Given the description of an element on the screen output the (x, y) to click on. 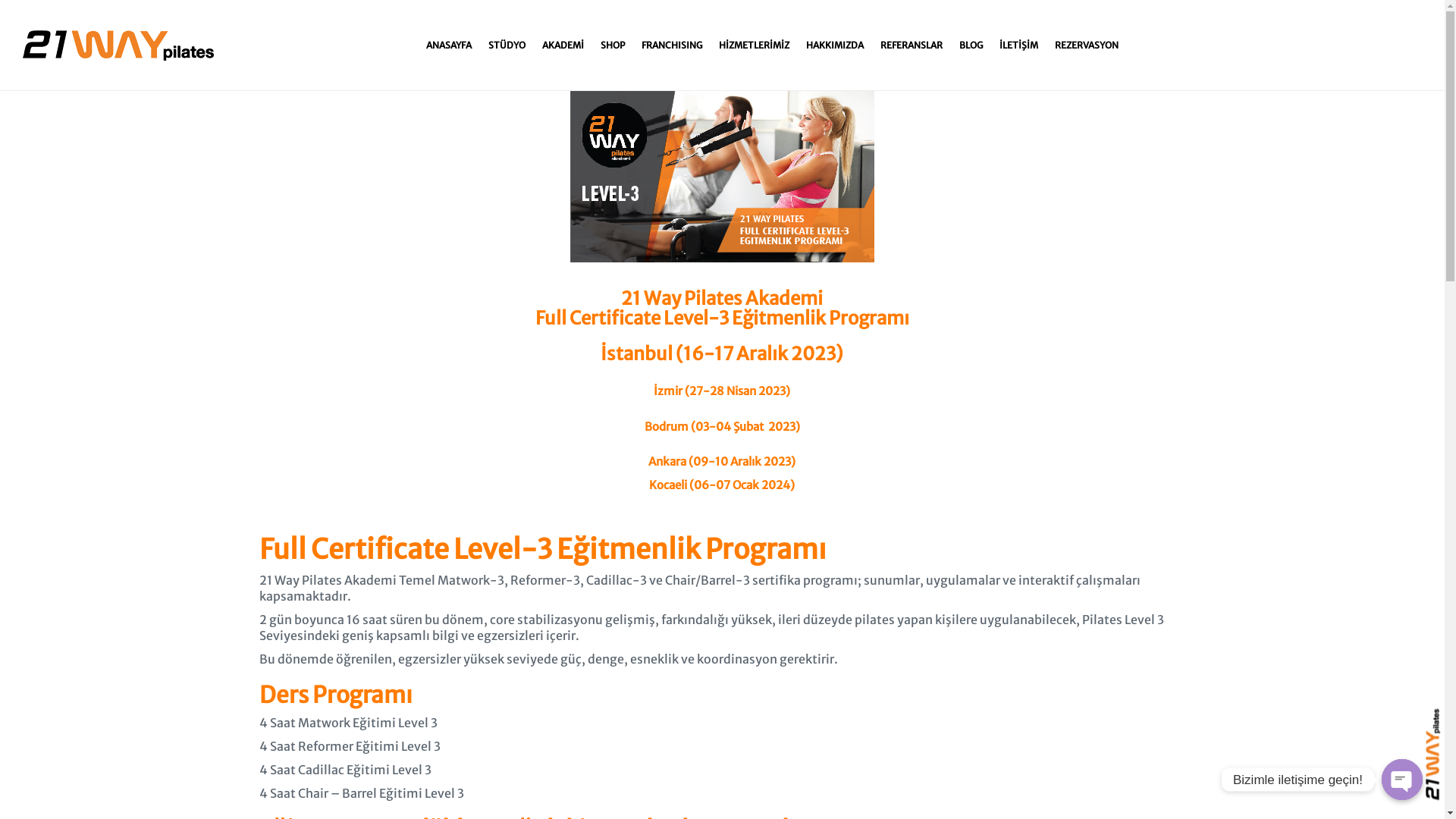
HIZMETLERIMIZ Element type: text (754, 45)
HAKKIMIZDA Element type: text (834, 45)
SHOP Element type: text (612, 45)
BLOG Element type: text (970, 45)
REZERVASYON Element type: text (1086, 45)
AKADEMI Element type: text (562, 45)
ANASAYFA Element type: text (448, 45)
REFERANSLAR Element type: text (911, 45)
FRANCHISING Element type: text (671, 45)
